Given the description of an element on the screen output the (x, y) to click on. 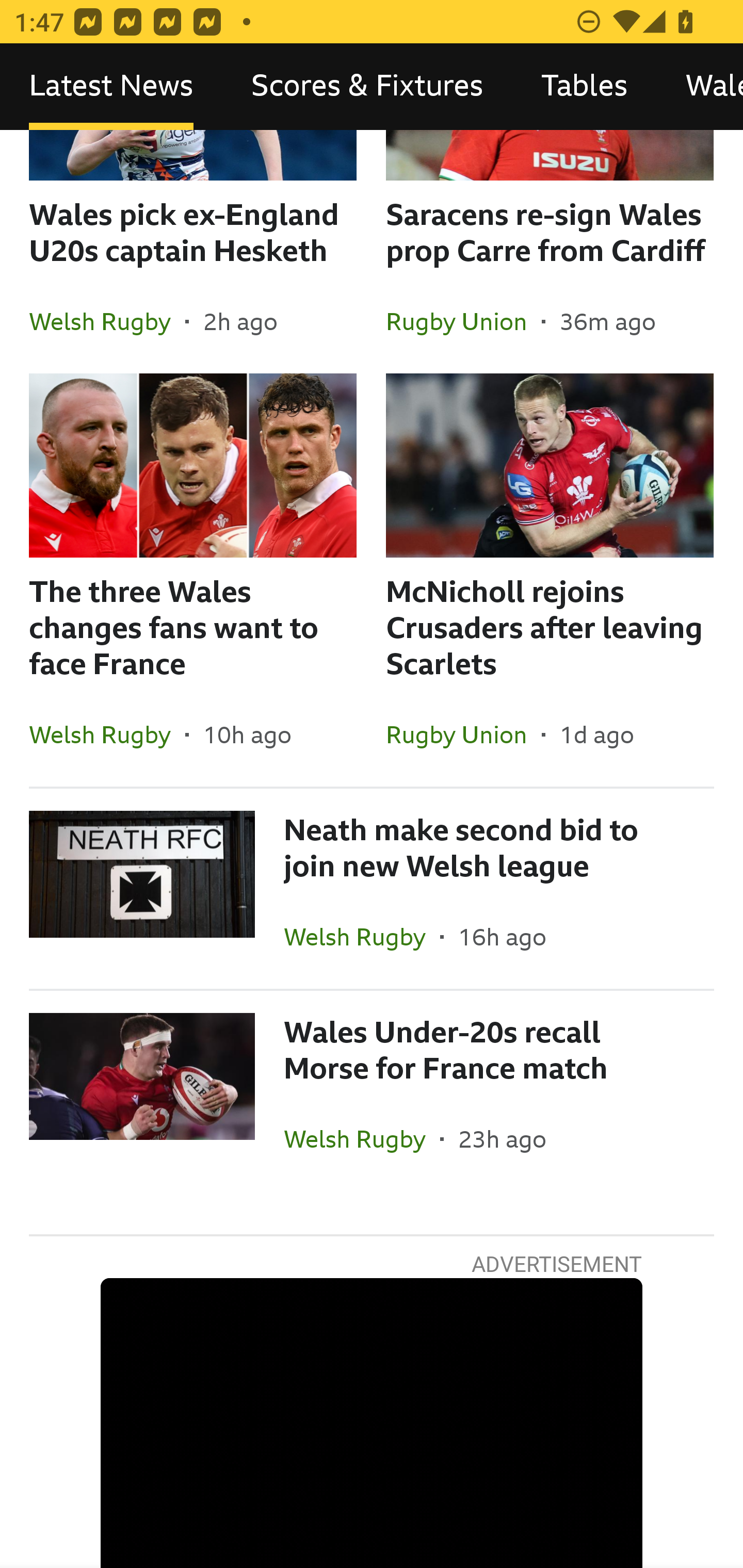
Latest News, selected Latest News (111, 86)
Scores & Fixtures (367, 86)
Tables (584, 86)
Rugby Union In the section Rugby Union (463, 321)
Rugby Union In the section Rugby Union (463, 734)
Video Player   (371, 1422)
